Given the description of an element on the screen output the (x, y) to click on. 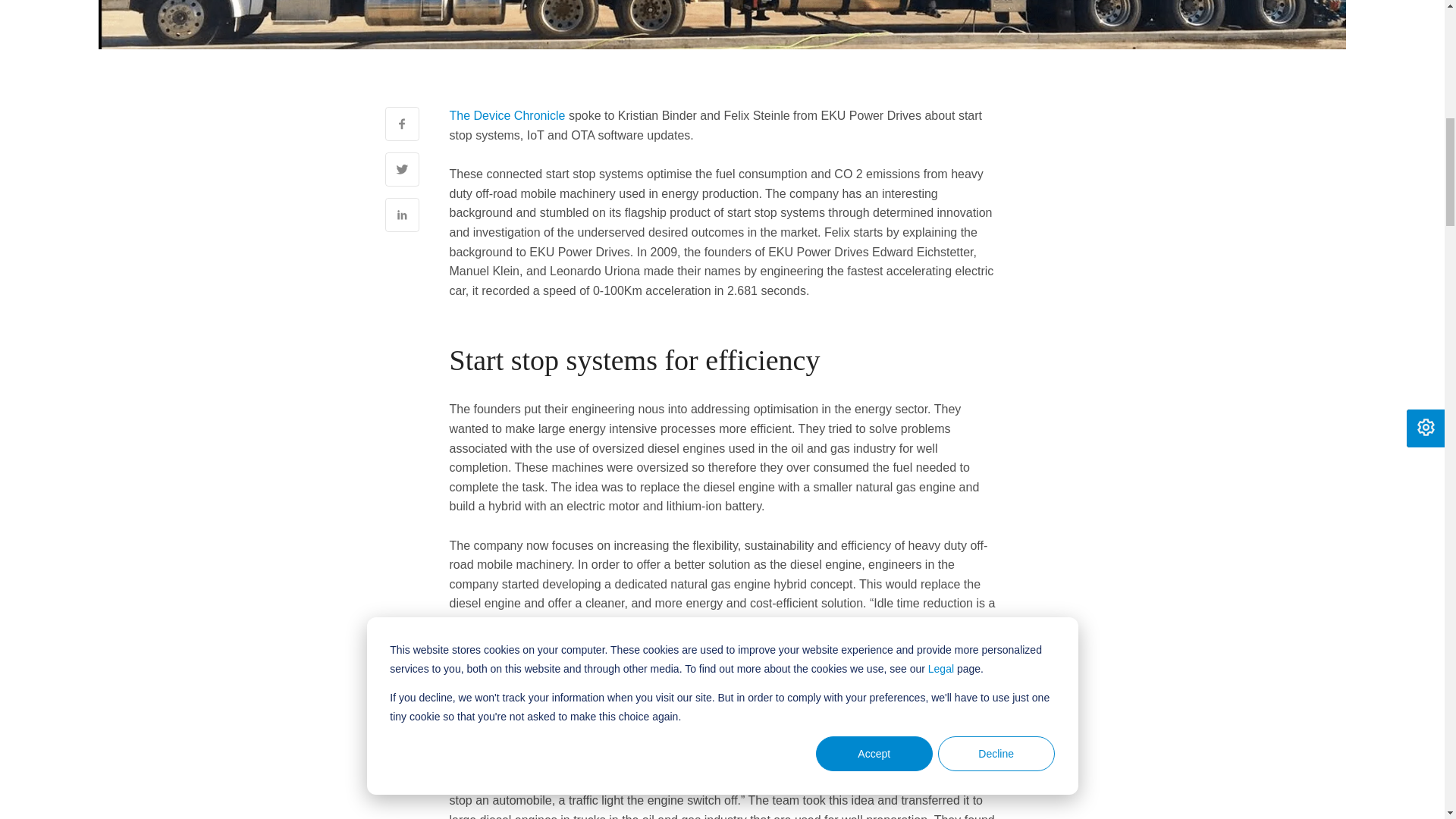
Share on Linkedin (402, 214)
Share on Facebook (402, 123)
The Device Chronicle (506, 115)
Share on Twitter (402, 169)
